Given the description of an element on the screen output the (x, y) to click on. 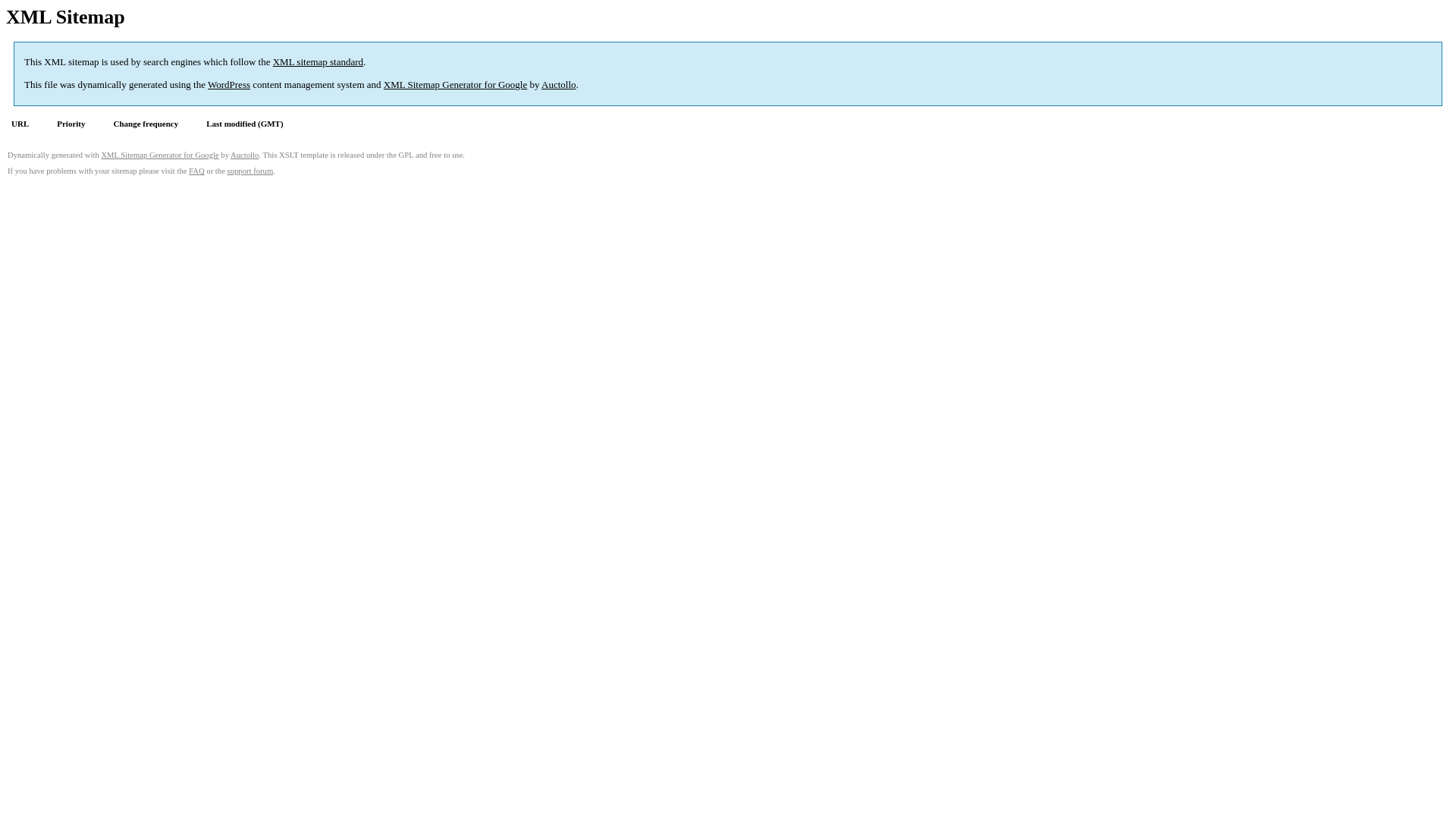
Auctollo Element type: text (558, 84)
XML sitemap standard Element type: text (318, 61)
Auctollo Element type: text (244, 154)
support forum Element type: text (250, 170)
WordPress Element type: text (228, 84)
XML Sitemap Generator for Google Element type: text (455, 84)
XML Sitemap Generator for Google Element type: text (159, 154)
FAQ Element type: text (196, 170)
